Given the description of an element on the screen output the (x, y) to click on. 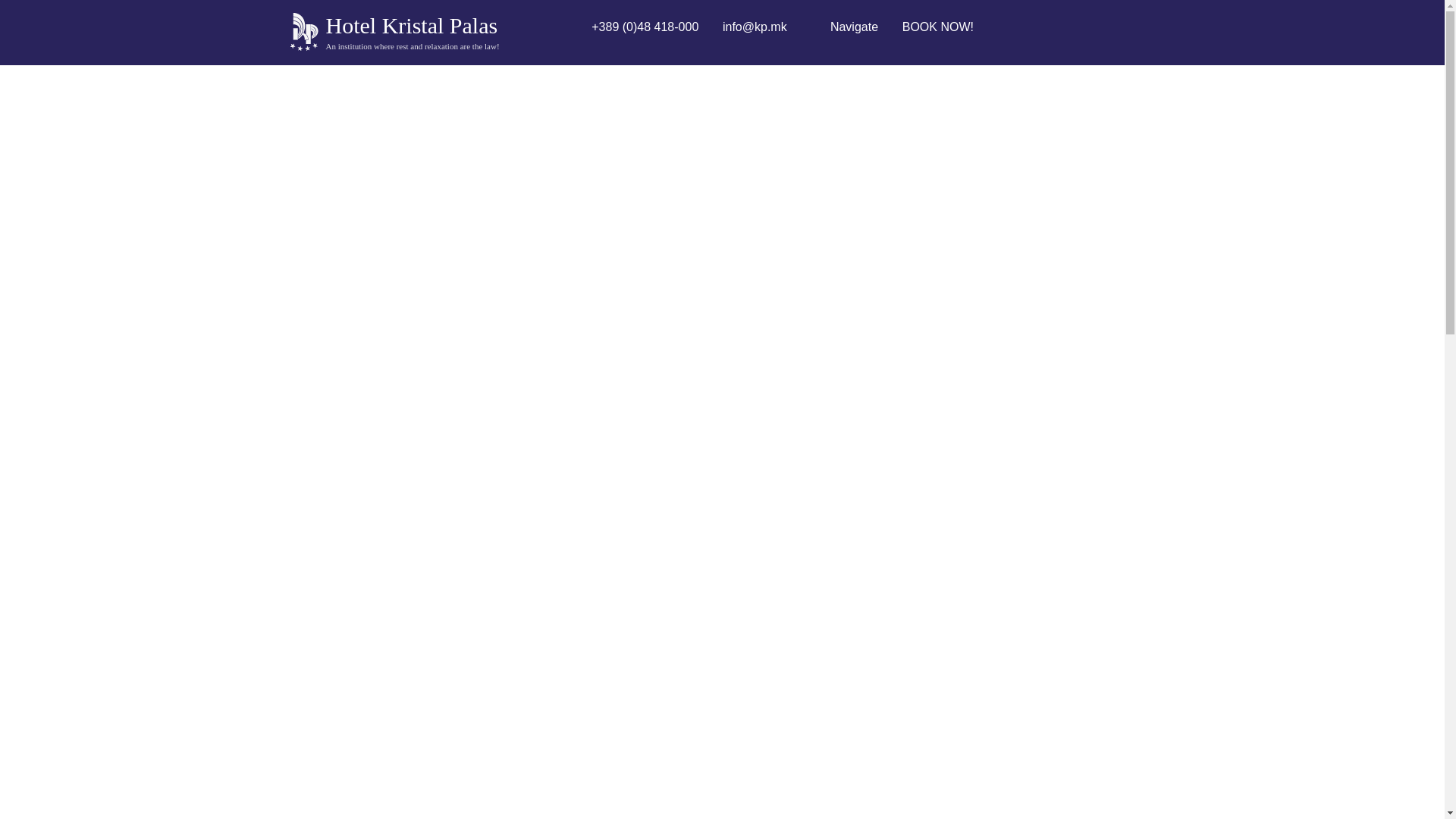
Hotel Kristal Palas (411, 25)
Home (303, 30)
Home (936, 26)
